Given the description of an element on the screen output the (x, y) to click on. 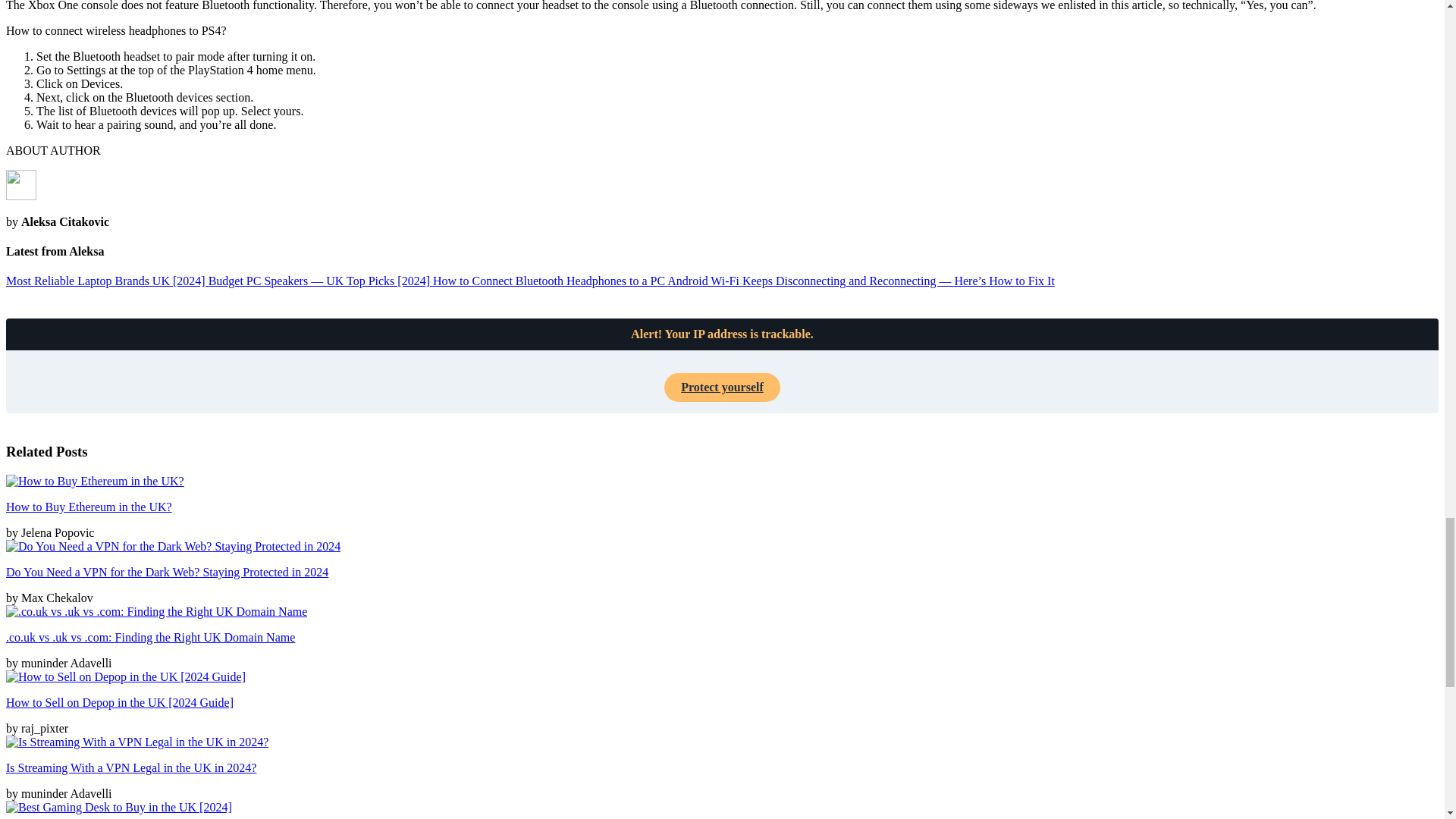
Protect yourself (721, 387)
How to Connect Bluetooth Headphones to a PC (549, 280)
How to Buy Ethereum in the UK? (88, 506)
Is Streaming With a VPN Legal in the UK in 2024? (130, 767)
.co.uk vs .uk vs .com: Finding the Right UK Domain Name (150, 636)
